Given the description of an element on the screen output the (x, y) to click on. 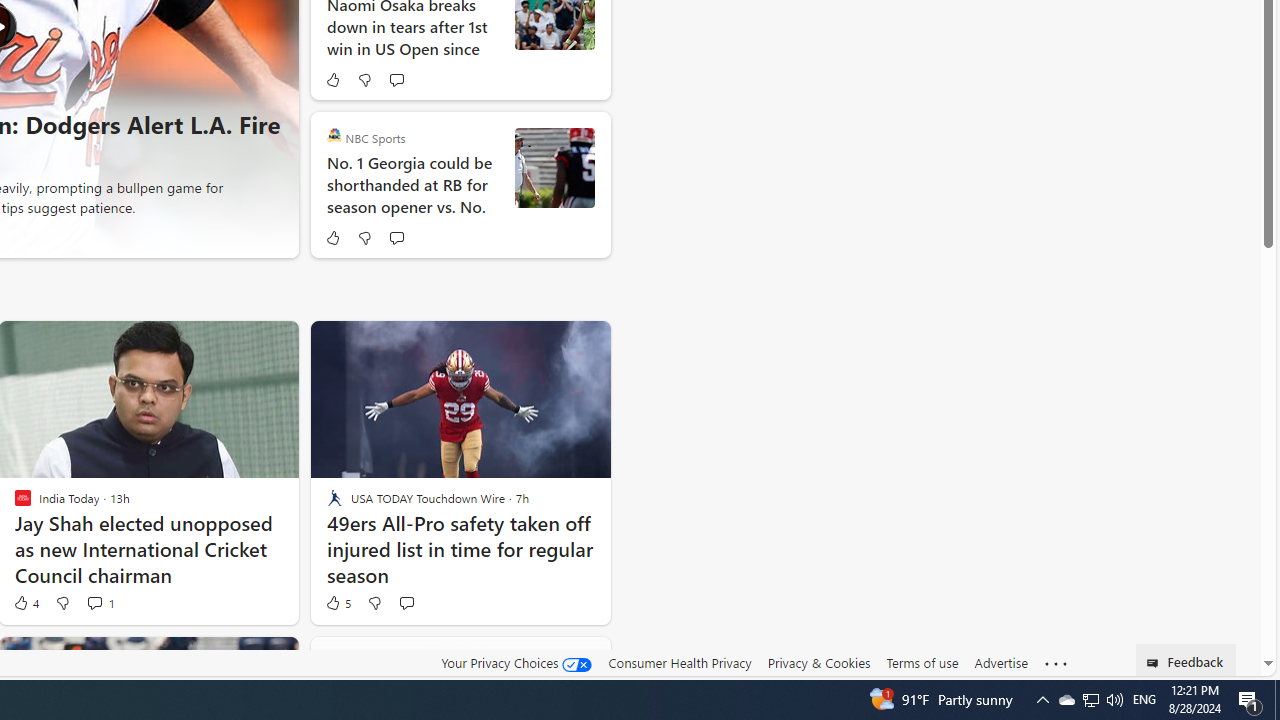
Like (332, 237)
5 Like (337, 601)
Advertise (1000, 662)
Terms of use (921, 663)
Hide this story (550, 659)
Terms of use (921, 662)
Start the conversation (406, 602)
See more (1055, 664)
Your Privacy Choices (516, 662)
Privacy & Cookies (818, 663)
Class: feedback_link_icon-DS-EntryPoint1-1 (1156, 663)
Feedback (1186, 659)
Privacy & Cookies (818, 662)
